Given the description of an element on the screen output the (x, y) to click on. 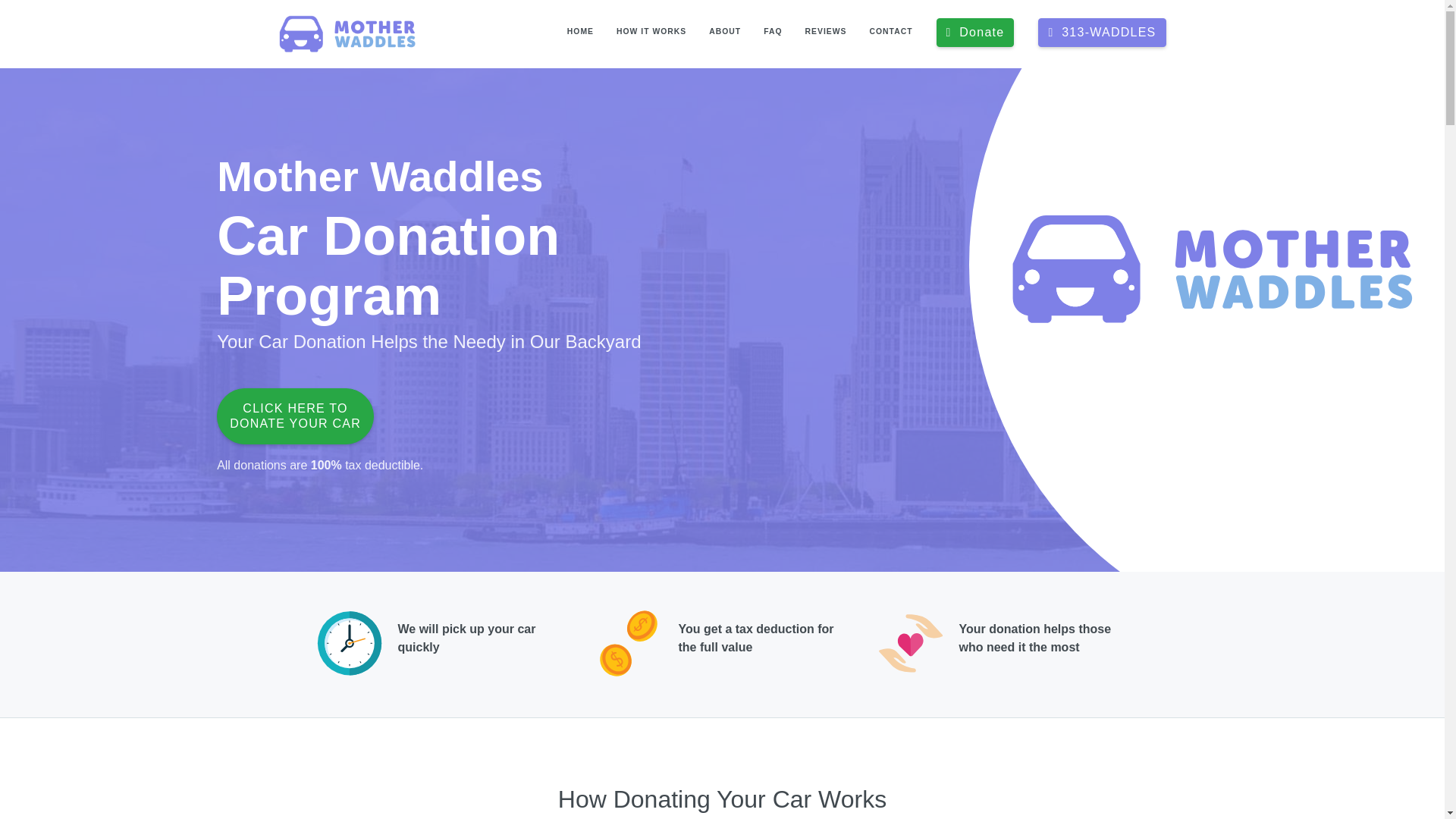
Donate (975, 32)
REVIEWS (295, 416)
HOW IT WORKS (826, 33)
CONTACT (651, 33)
313-WADDLES (890, 33)
